Given the description of an element on the screen output the (x, y) to click on. 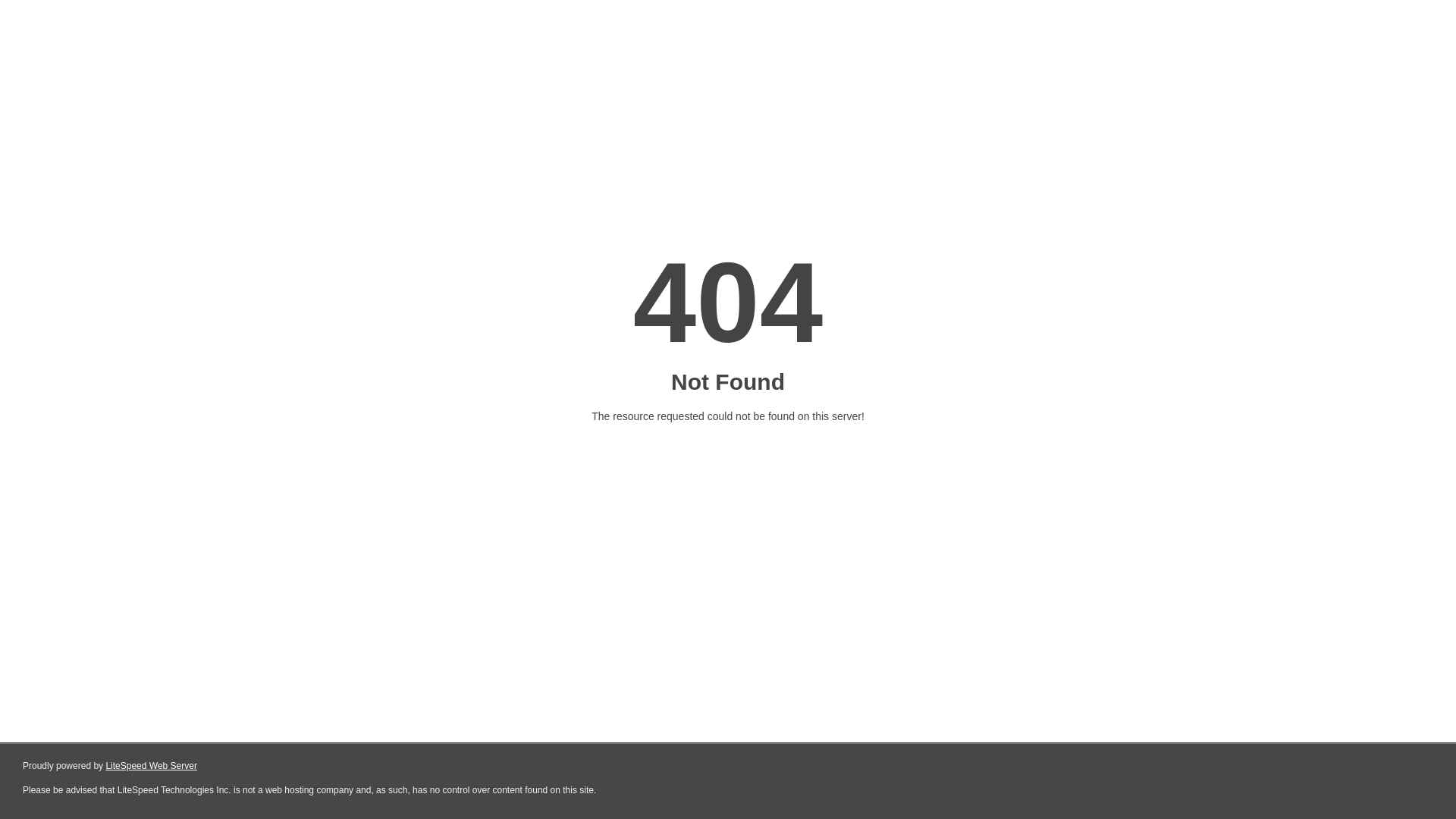
LiteSpeed Web Server Element type: text (151, 765)
